Given the description of an element on the screen output the (x, y) to click on. 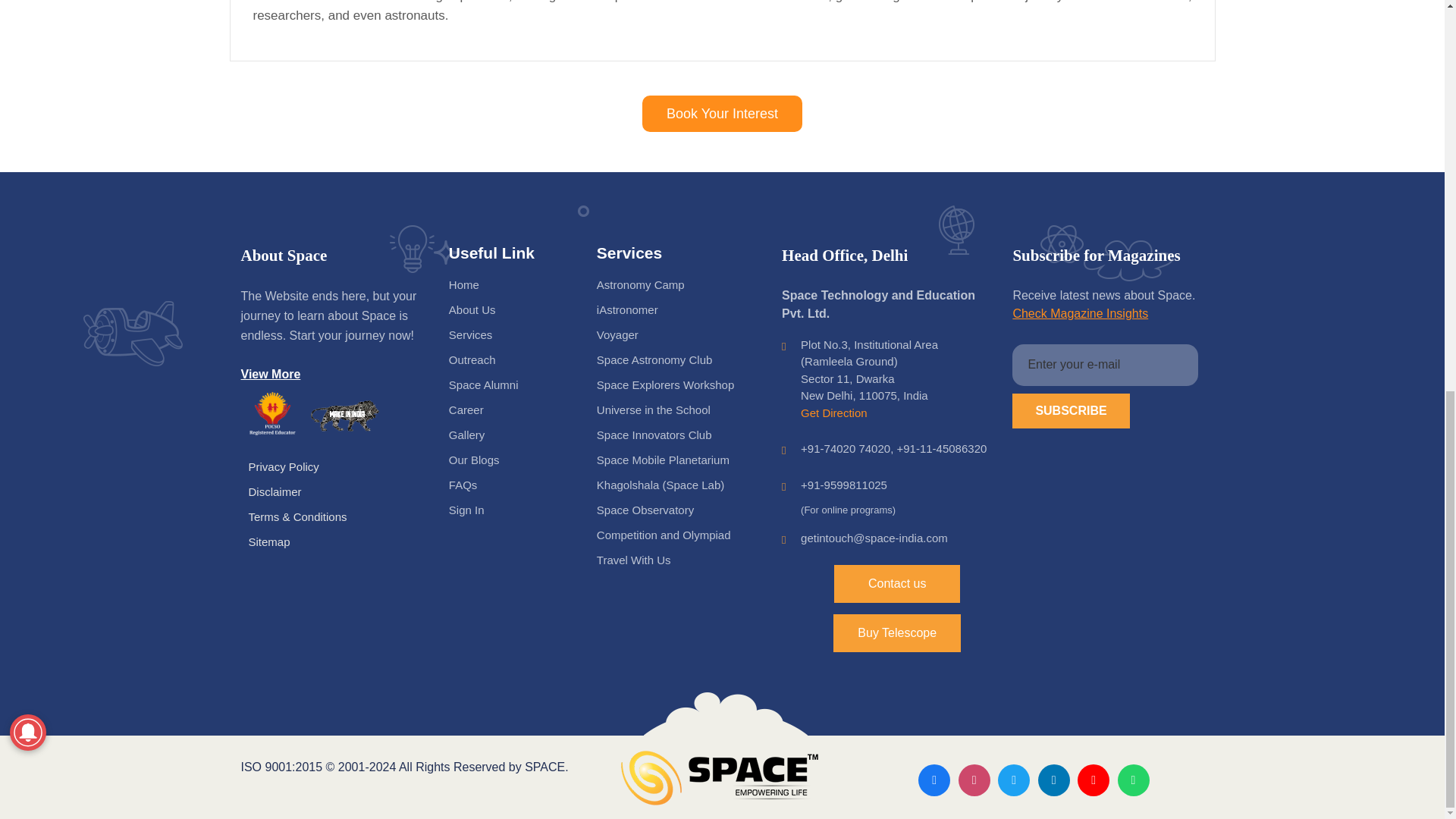
Subscribe (1070, 410)
